Given the description of an element on the screen output the (x, y) to click on. 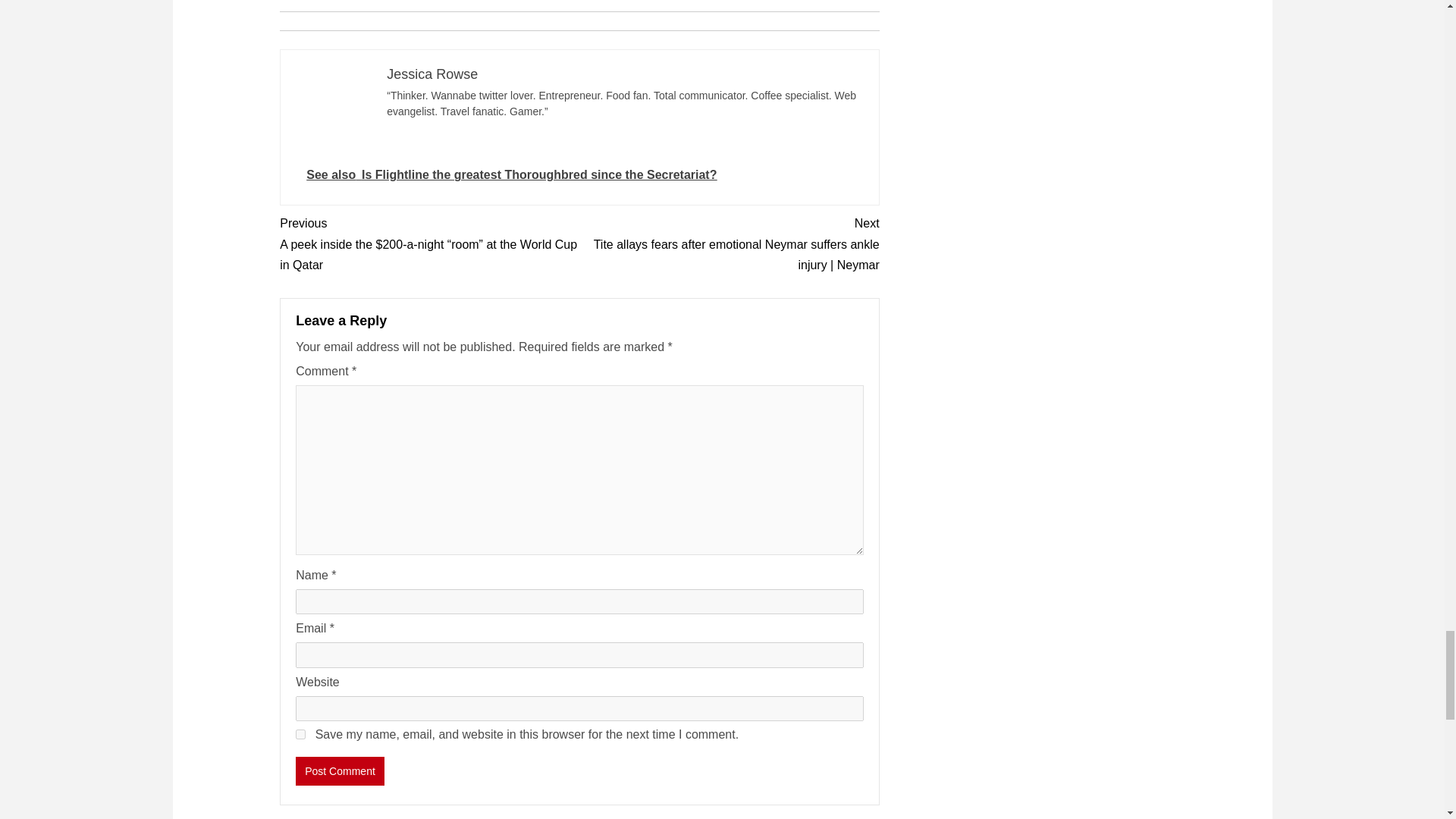
yes (300, 734)
Post Comment (339, 770)
